Given the description of an element on the screen output the (x, y) to click on. 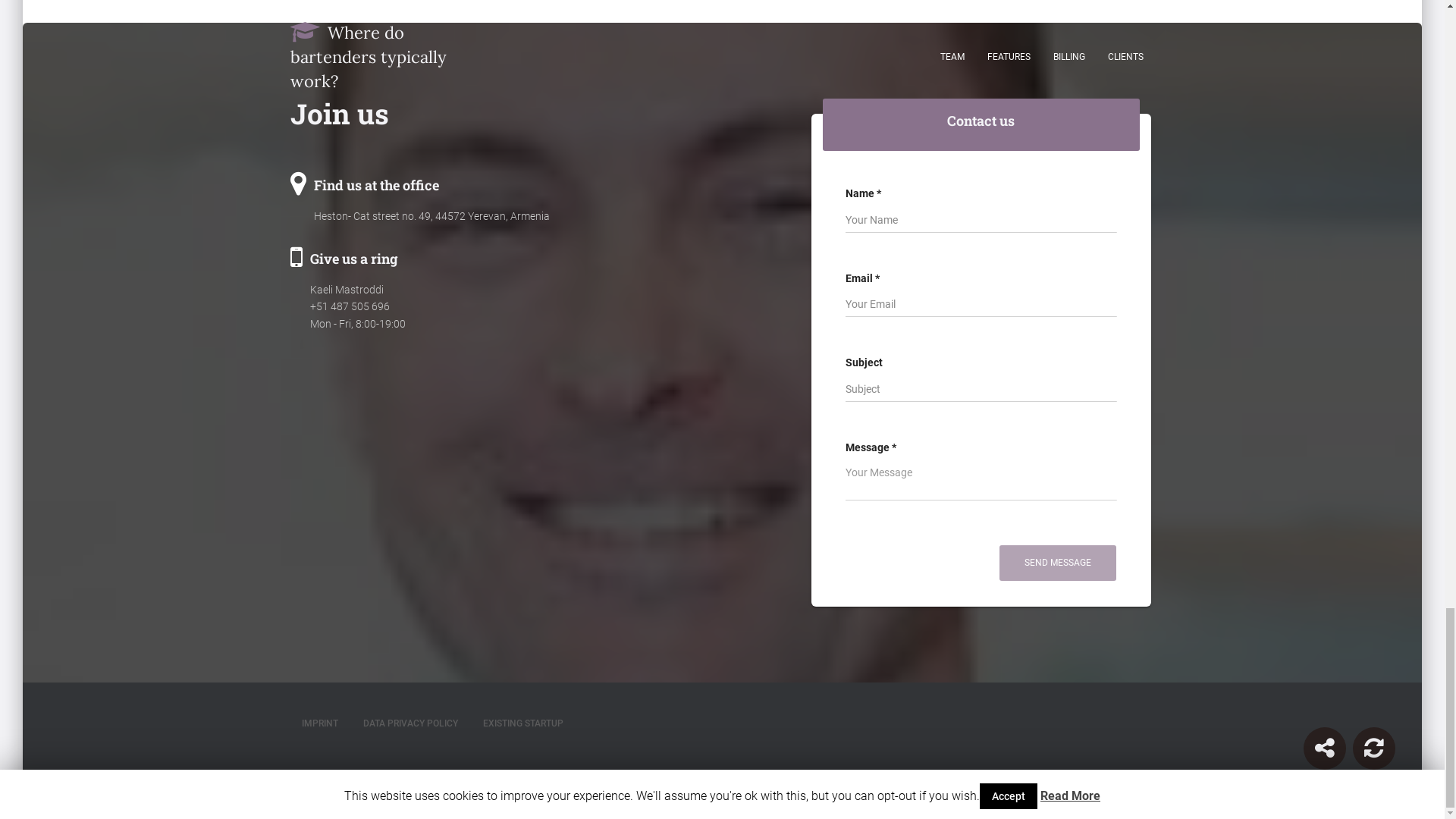
DATA PRIVACY POLICY (410, 723)
SEND MESSAGE (1057, 562)
EXISTING STARTUP (523, 723)
IMPRINT (319, 723)
